Given the description of an element on the screen output the (x, y) to click on. 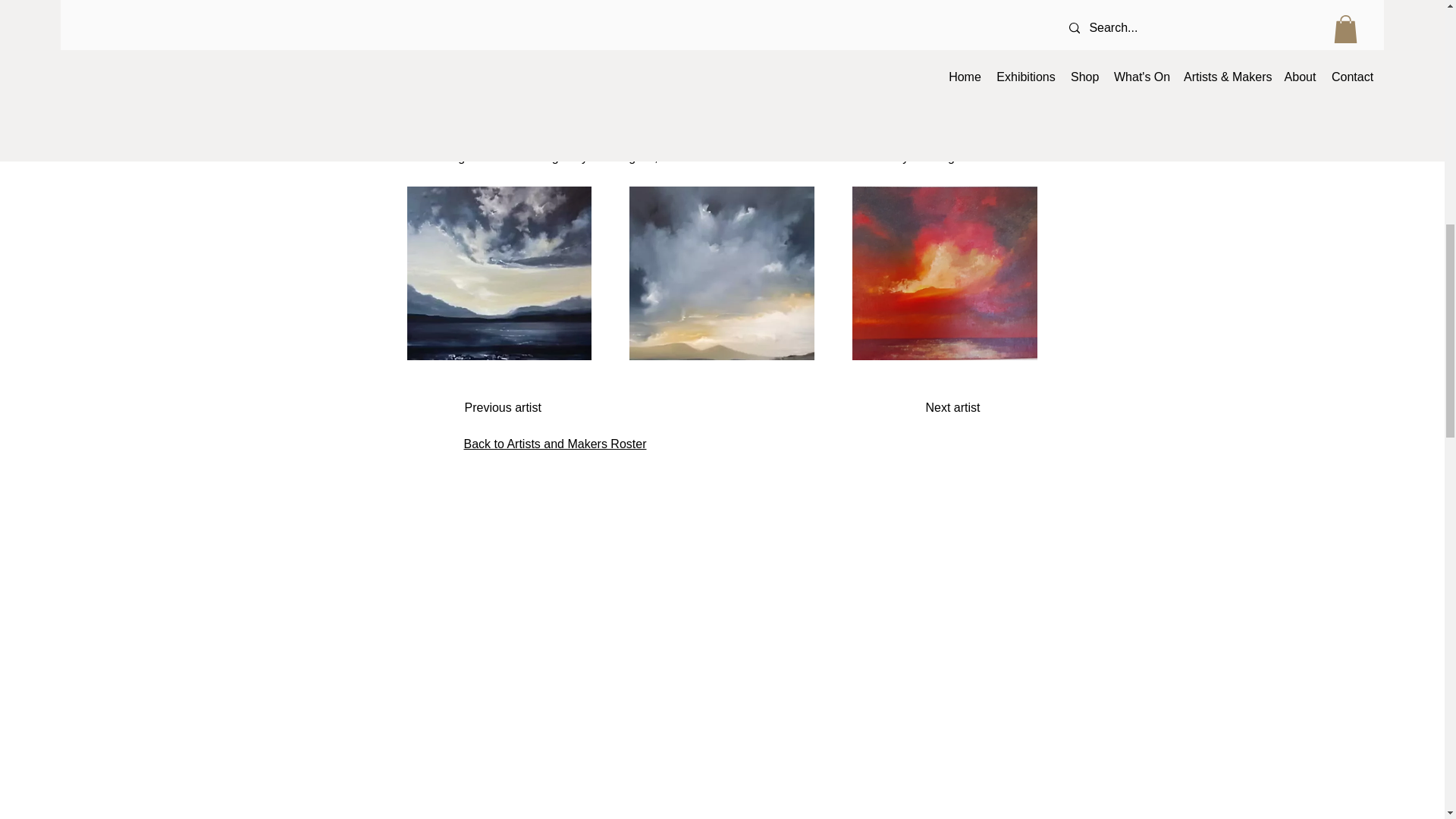
Previous artist (514, 408)
Next artist (941, 408)
Back to Artists and Makers Roster (555, 443)
